Given the description of an element on the screen output the (x, y) to click on. 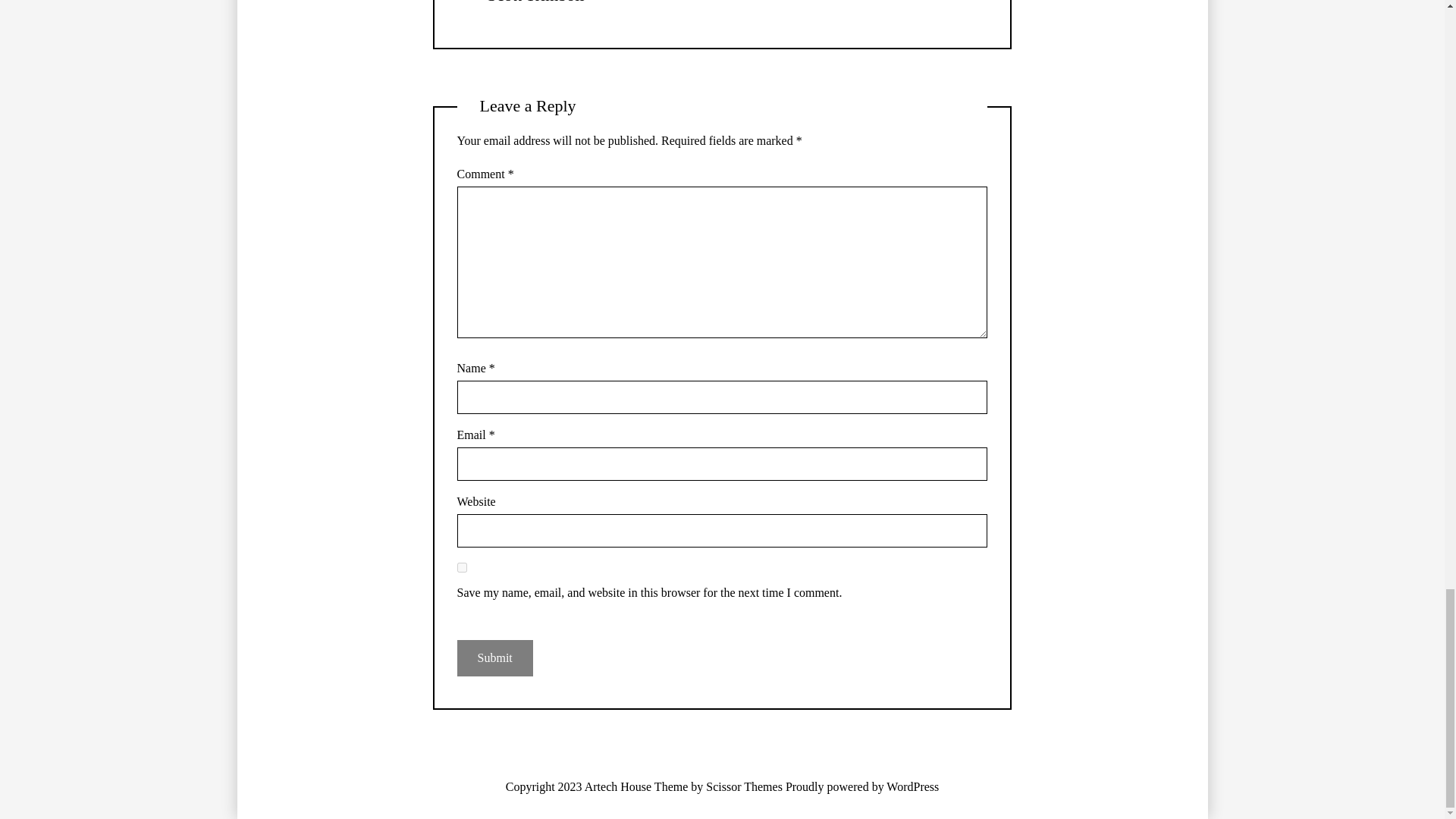
Submit (494, 657)
yes (462, 567)
An Interview with Gregory L. Plett and M. Scott Trimboli (535, 2)
